Given the description of an element on the screen output the (x, y) to click on. 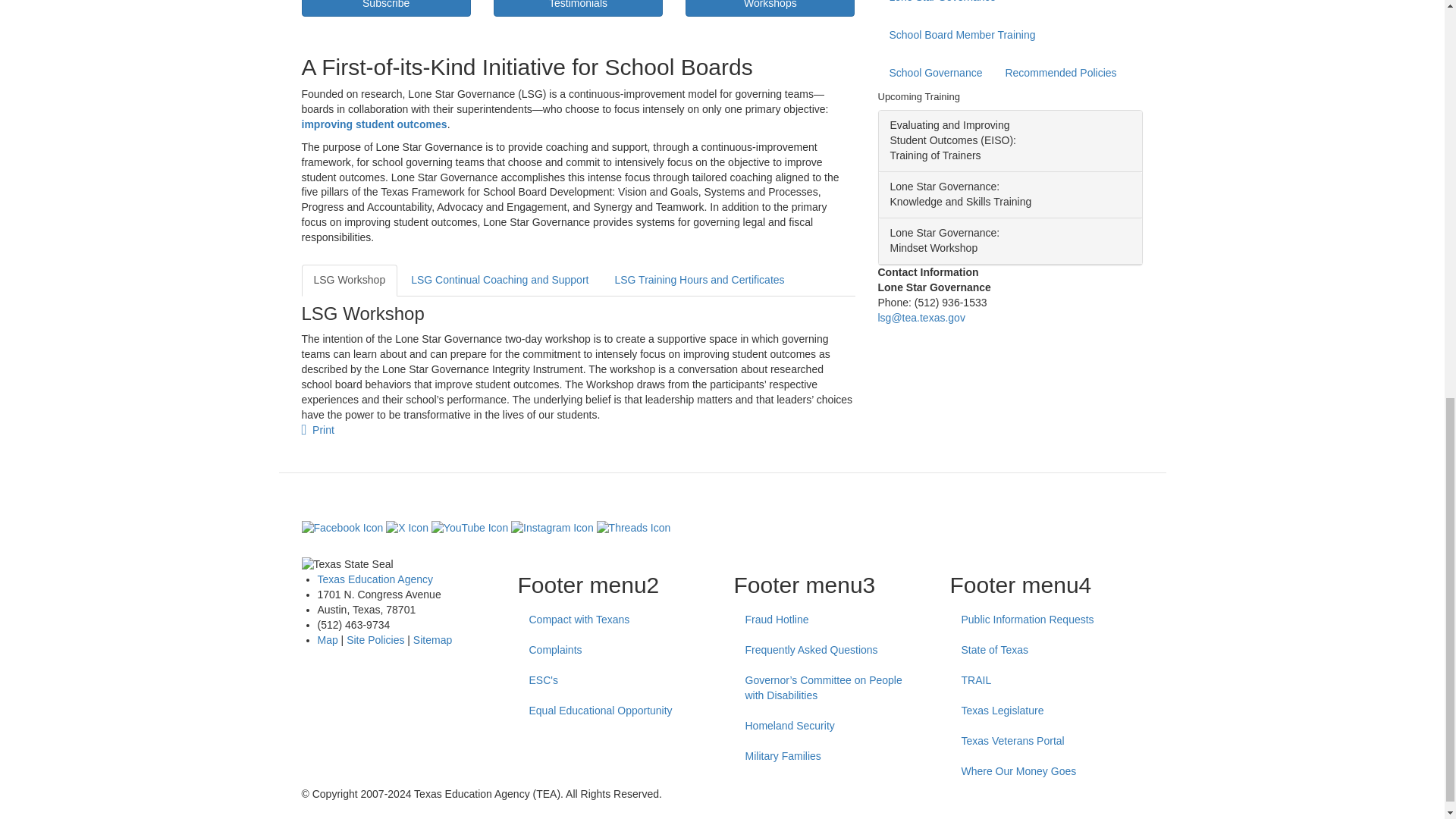
Print Page (317, 429)
Attend a Workshop (769, 7)
See What Others Have Said (577, 7)
YouTube (469, 527)
Threads (633, 527)
Facebook (342, 527)
Texas State Seal (398, 564)
Instagram (552, 527)
Sign Up for Updates (385, 7)
X (406, 527)
